Given the description of an element on the screen output the (x, y) to click on. 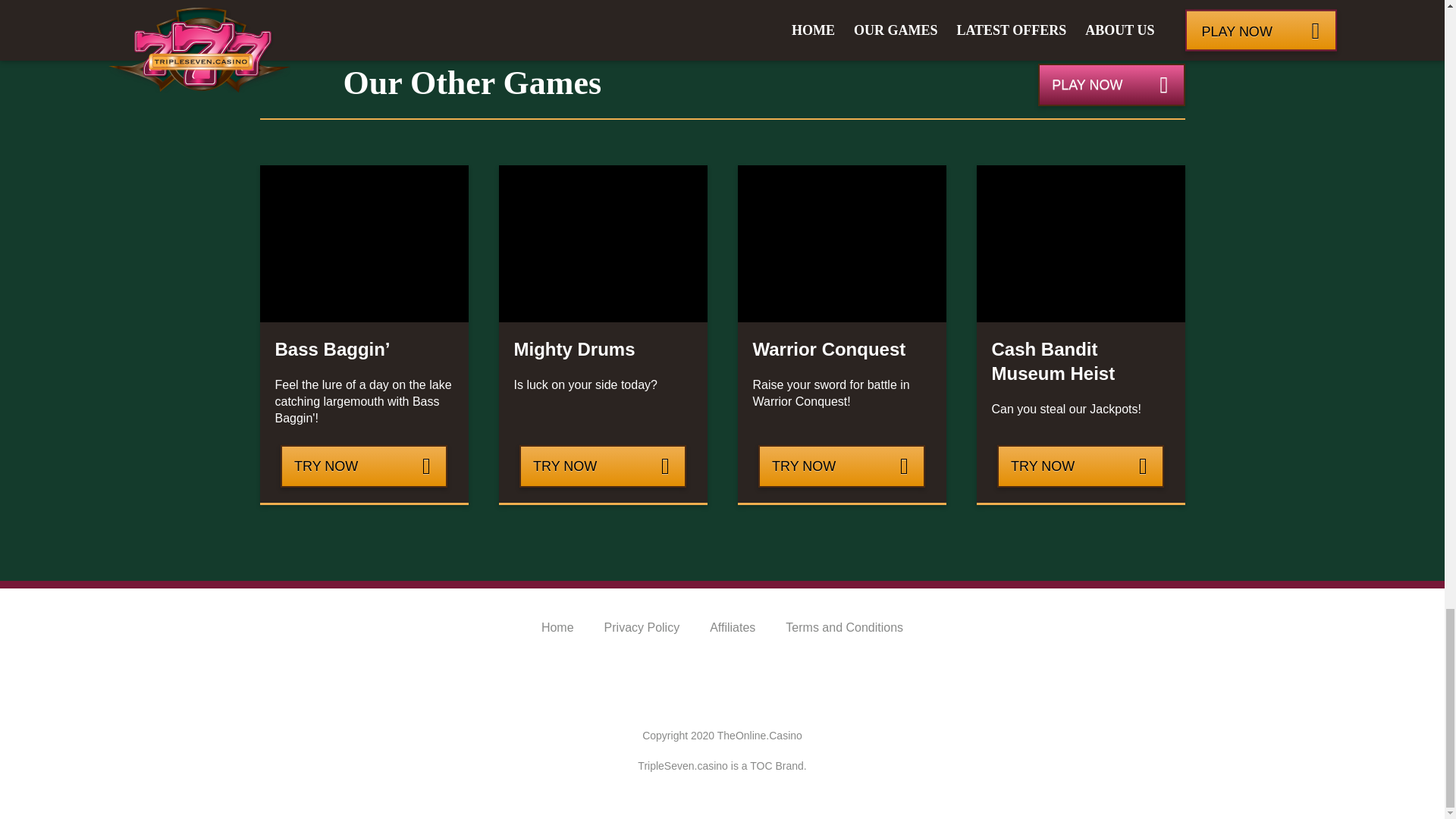
TRY NOW (841, 466)
TheOnline.Casino (759, 735)
PLAY NOW (1111, 84)
TRY NOW (363, 466)
Affiliates (732, 626)
Home (557, 626)
Terms and Conditions (844, 626)
Privacy Policy (641, 626)
TRY NOW (602, 466)
TRY NOW (1080, 466)
